Given the description of an element on the screen output the (x, y) to click on. 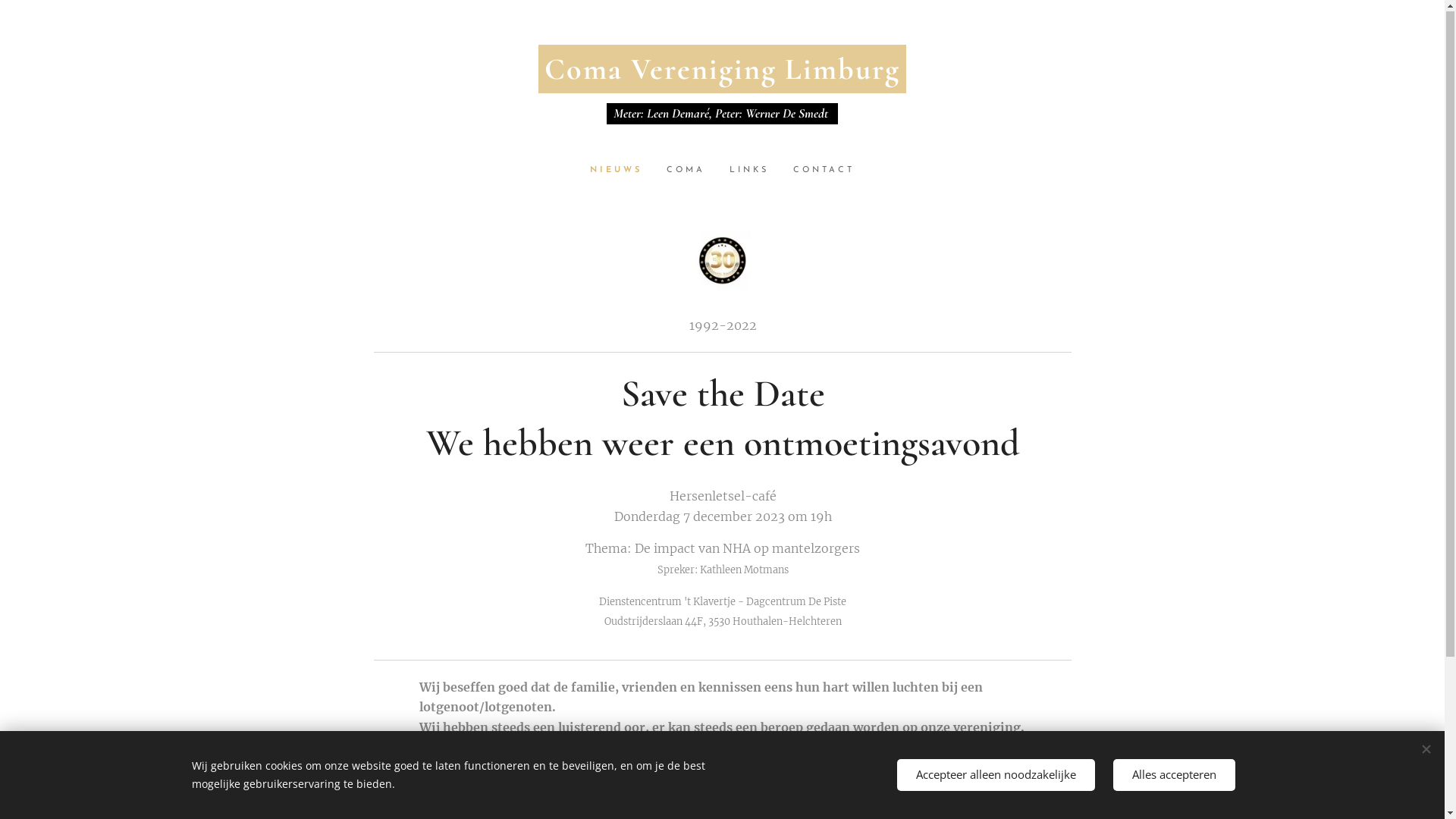
NIEUWS Element type: text (621, 171)
COMA Element type: text (685, 171)
Alles accepteren Element type: text (1174, 774)
Contact Element type: text (805, 779)
CONTACT Element type: text (817, 171)
LINKS Element type: text (749, 171)
Accepteer alleen noodzakelijke Element type: text (995, 774)
